Given the description of an element on the screen output the (x, y) to click on. 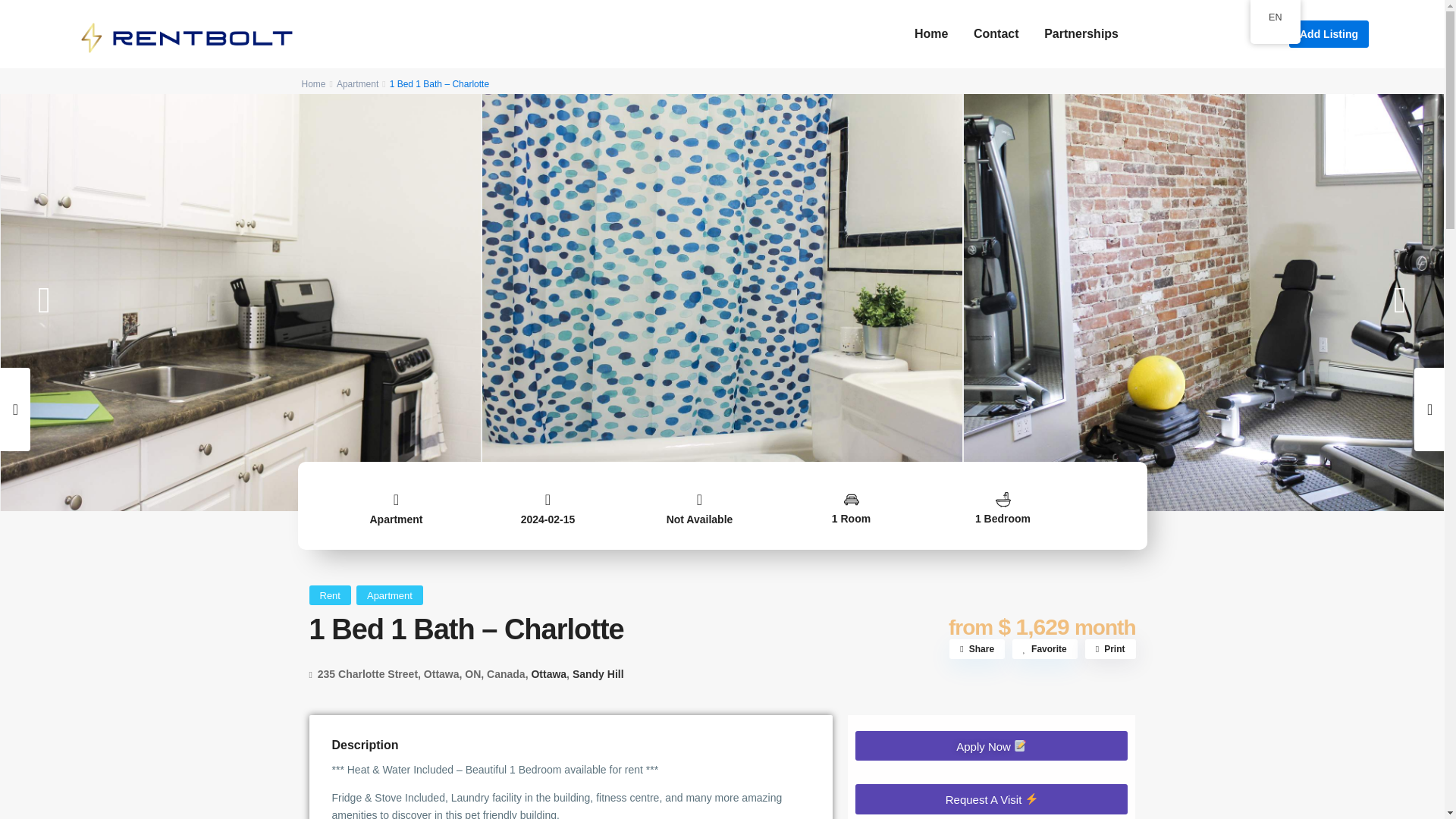
Home (313, 83)
Contact (996, 33)
Apartment (395, 519)
Apartment (389, 595)
Rent (330, 595)
Sandy Hill (598, 674)
Partnerships (1080, 33)
Ottawa (548, 674)
Add Listing (1328, 33)
Apartment (357, 83)
